Given the description of an element on the screen output the (x, y) to click on. 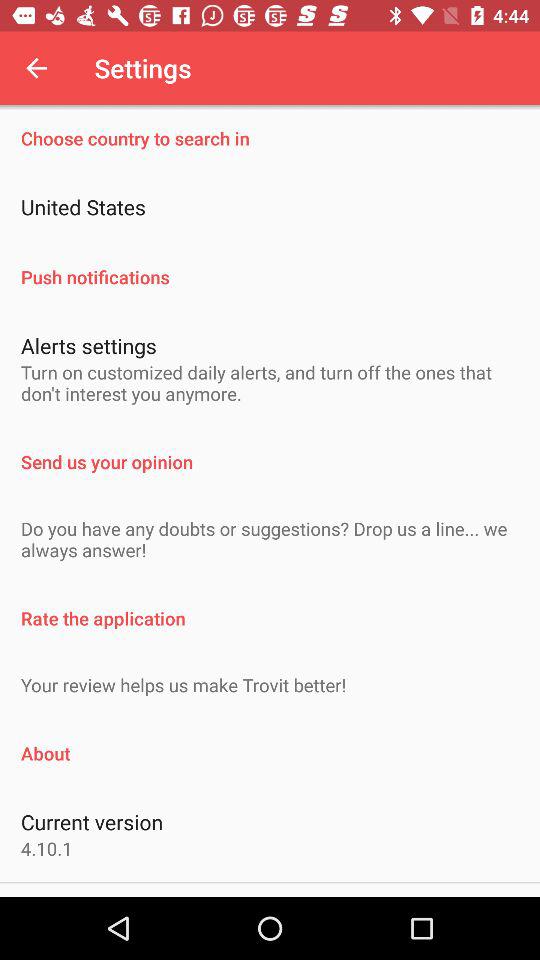
tap the item next to the settings (36, 68)
